Given the description of an element on the screen output the (x, y) to click on. 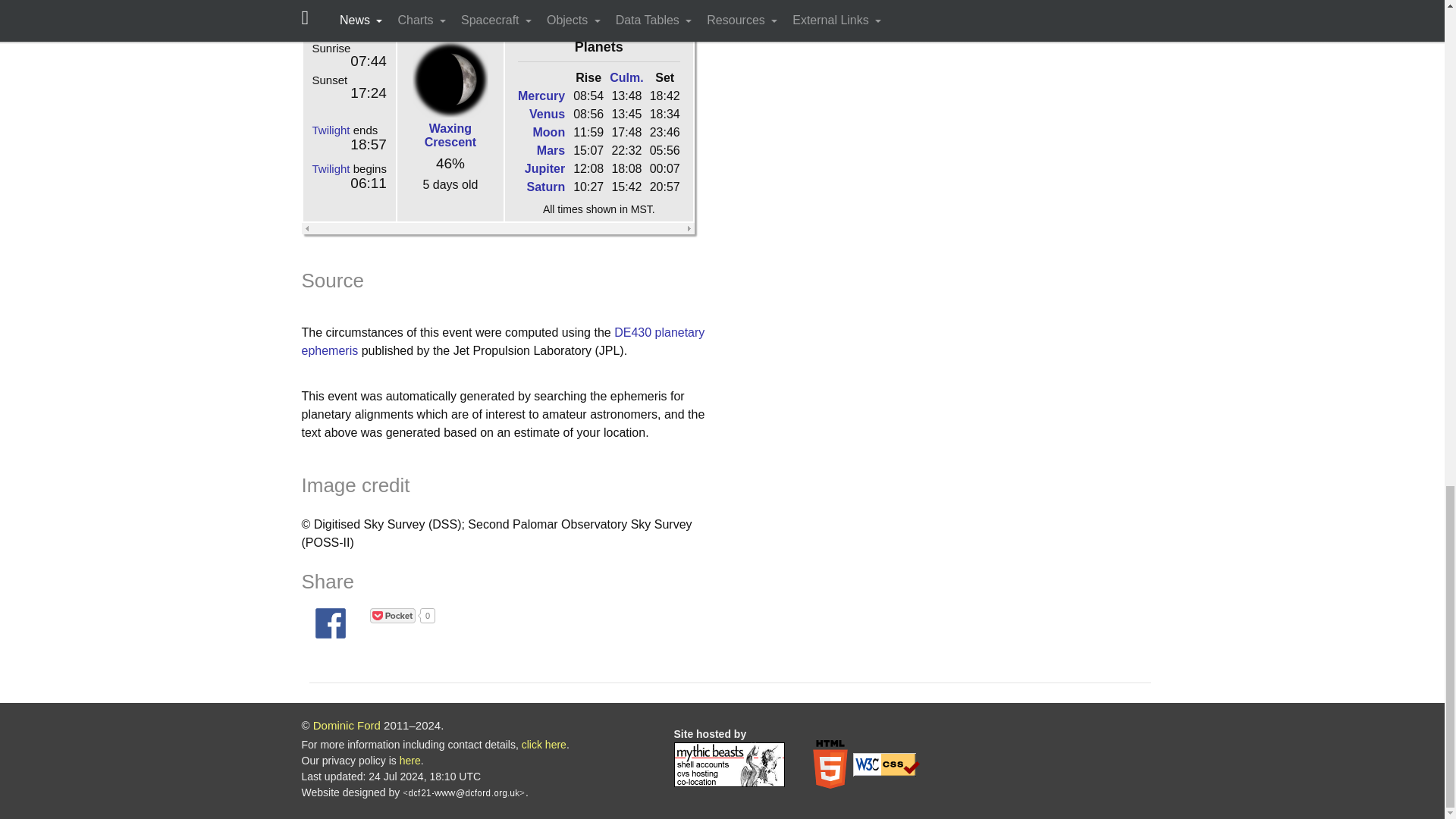
5-day old moon (450, 79)
